Given the description of an element on the screen output the (x, y) to click on. 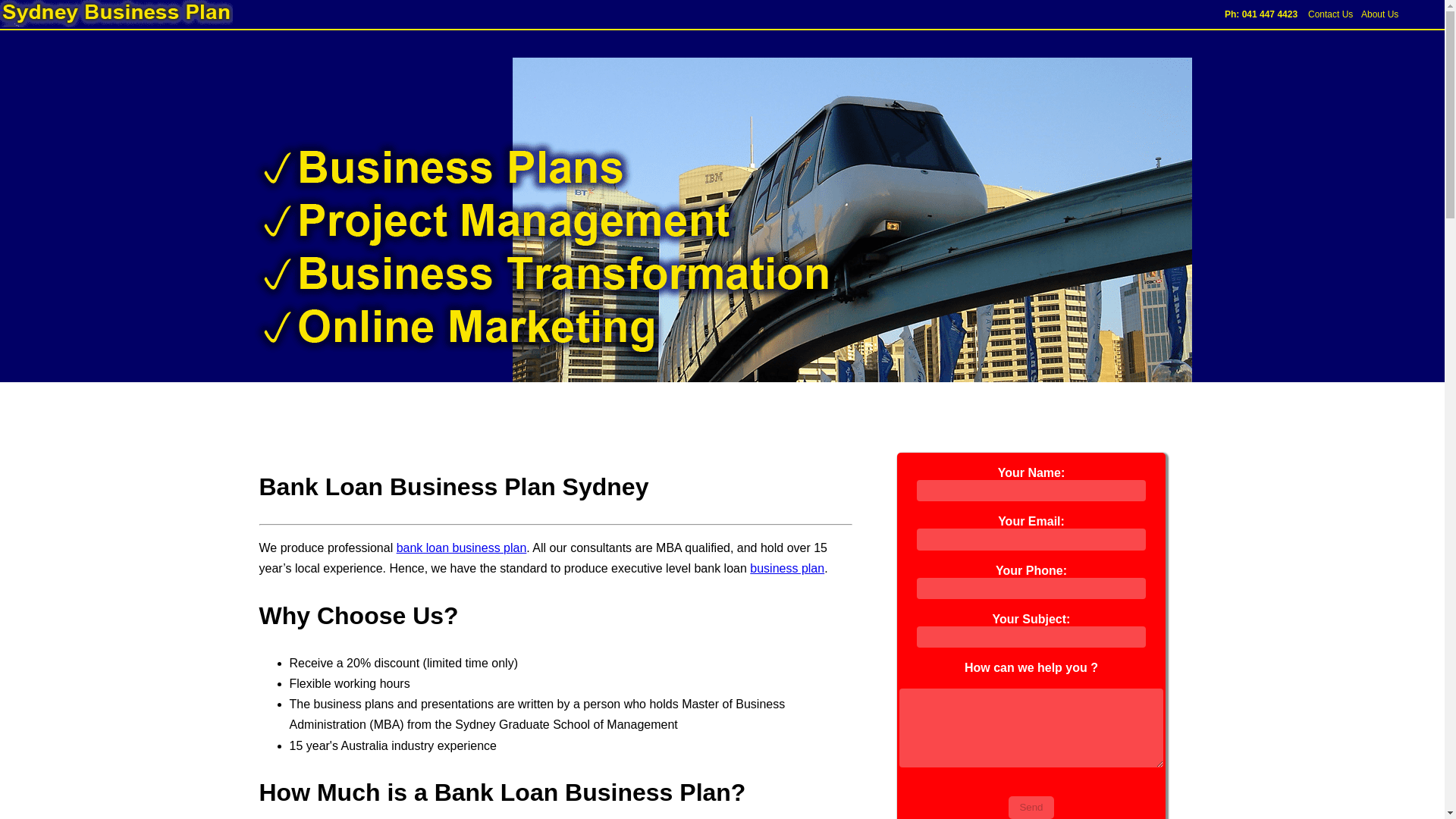
Sydney Business Plan (116, 13)
business plan (786, 567)
Ph: 041 447 4423 (1260, 14)
bank loan business plan (461, 547)
Send (1031, 807)
Send (1031, 807)
Contact Us (1329, 14)
About Us (1379, 14)
